Given the description of an element on the screen output the (x, y) to click on. 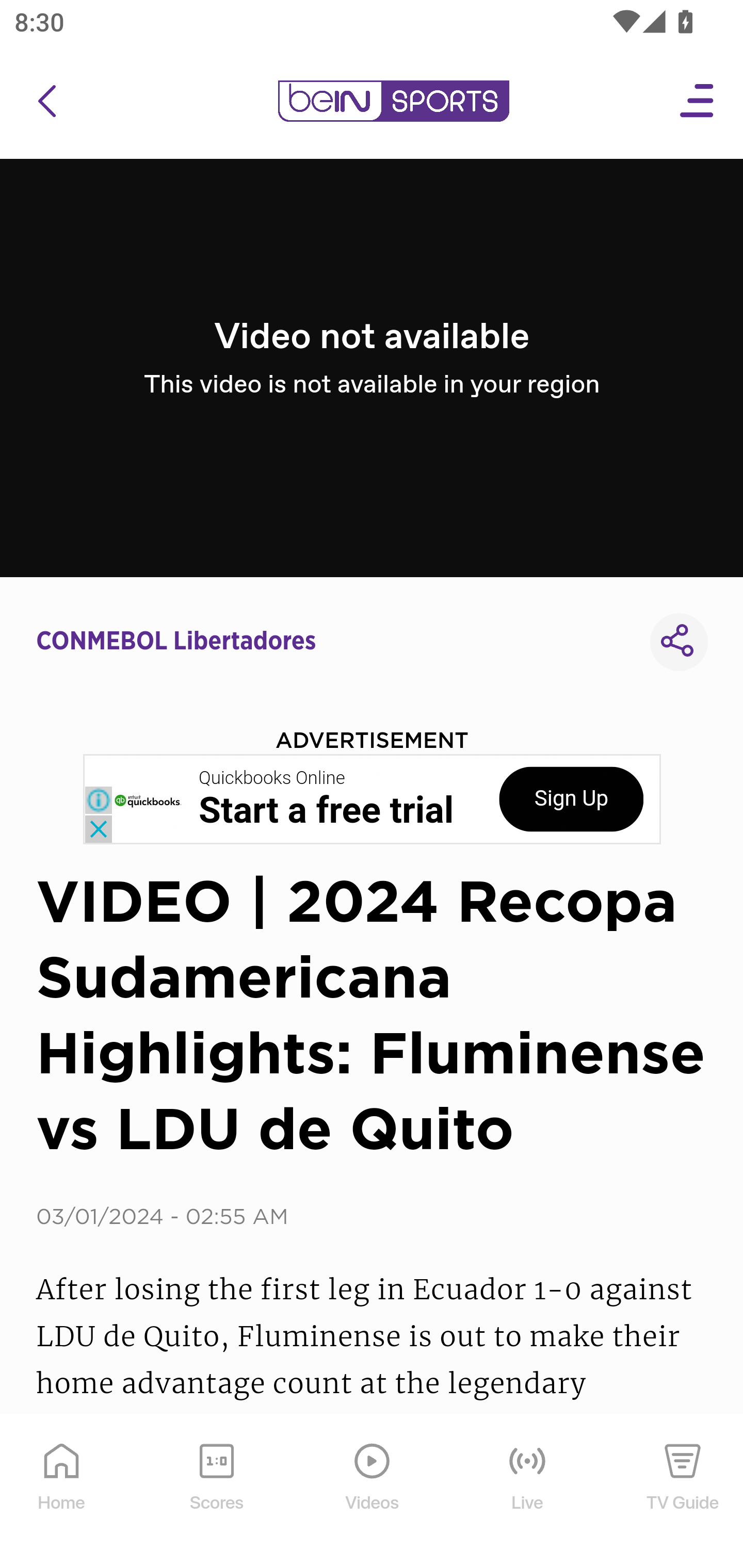
en-us?platform=mobile_android bein logo (392, 101)
icon back (46, 101)
Open Menu Icon (697, 101)
Quickbooks Online (272, 778)
Sign Up (571, 799)
Start a free trial (326, 810)
Home Home Icon Home (61, 1491)
Scores Scores Icon Scores (216, 1491)
Videos Videos Icon Videos (372, 1491)
TV Guide TV Guide Icon TV Guide (682, 1491)
